Given the description of an element on the screen output the (x, y) to click on. 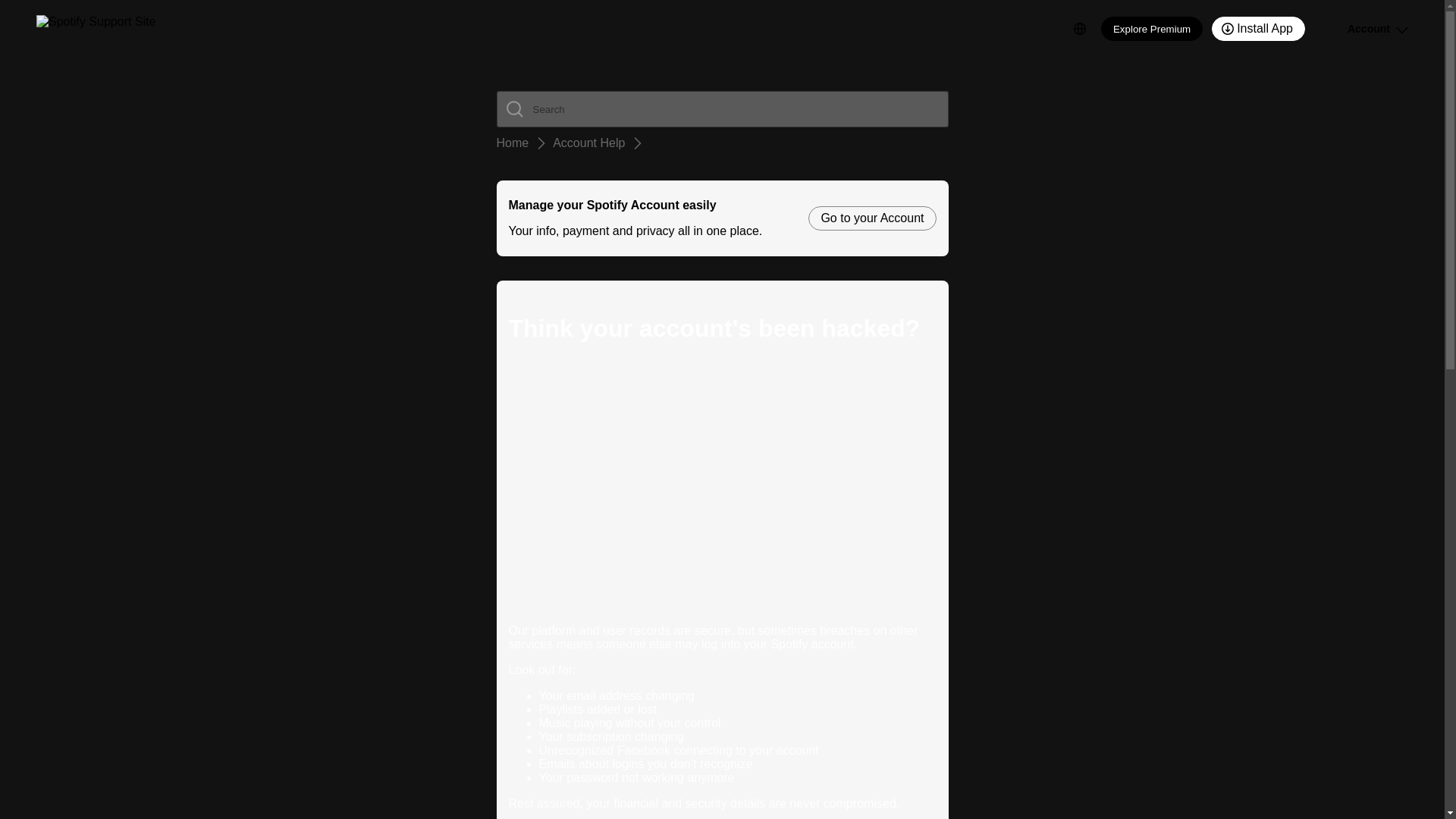
Account Help (588, 142)
Go to your Account (872, 218)
Home (512, 142)
Install App (1257, 28)
Spotify Support Site (95, 28)
Explore Premium (1151, 28)
Account (1360, 28)
